Given the description of an element on the screen output the (x, y) to click on. 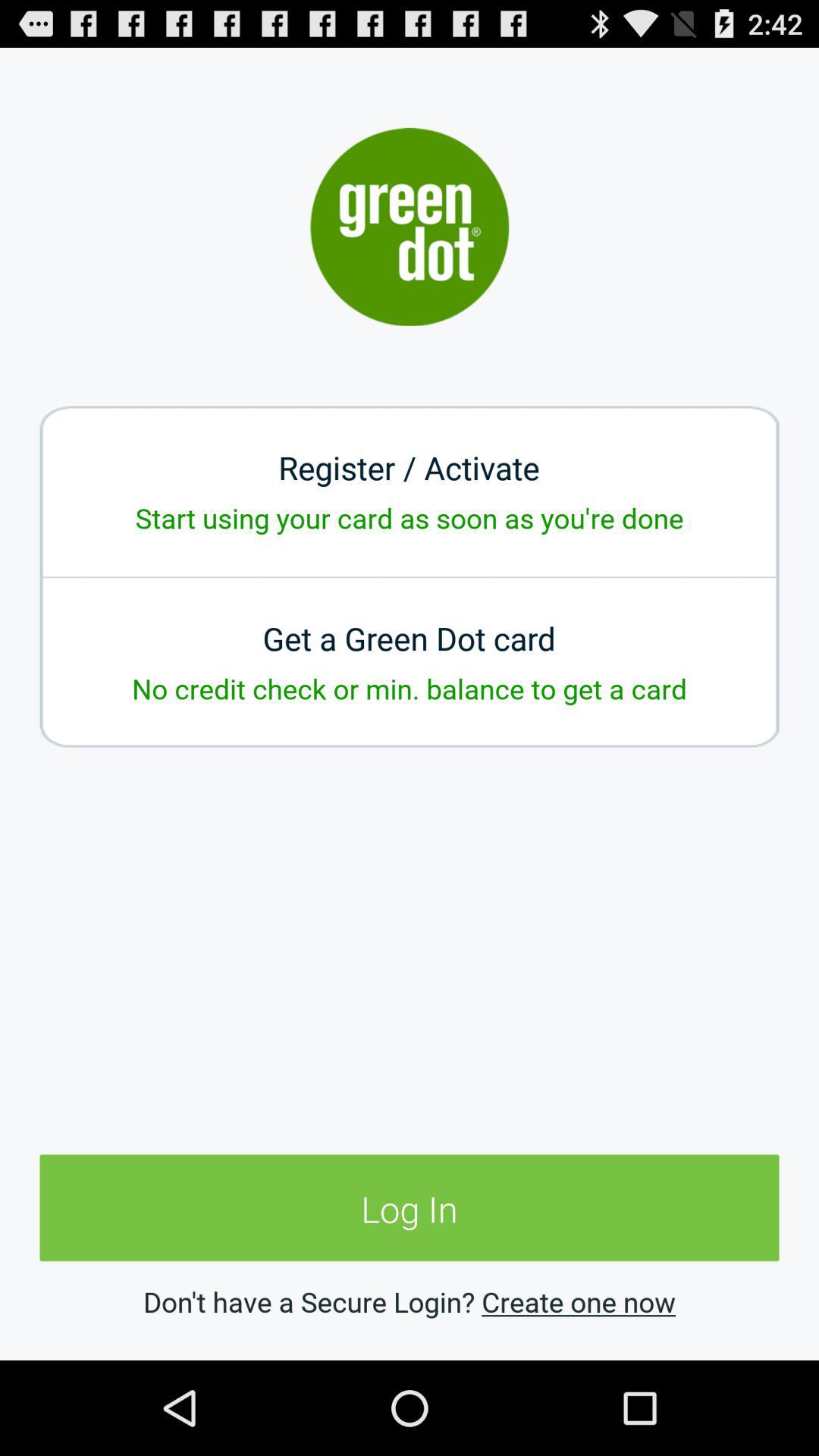
scroll to log in icon (409, 1208)
